Given the description of an element on the screen output the (x, y) to click on. 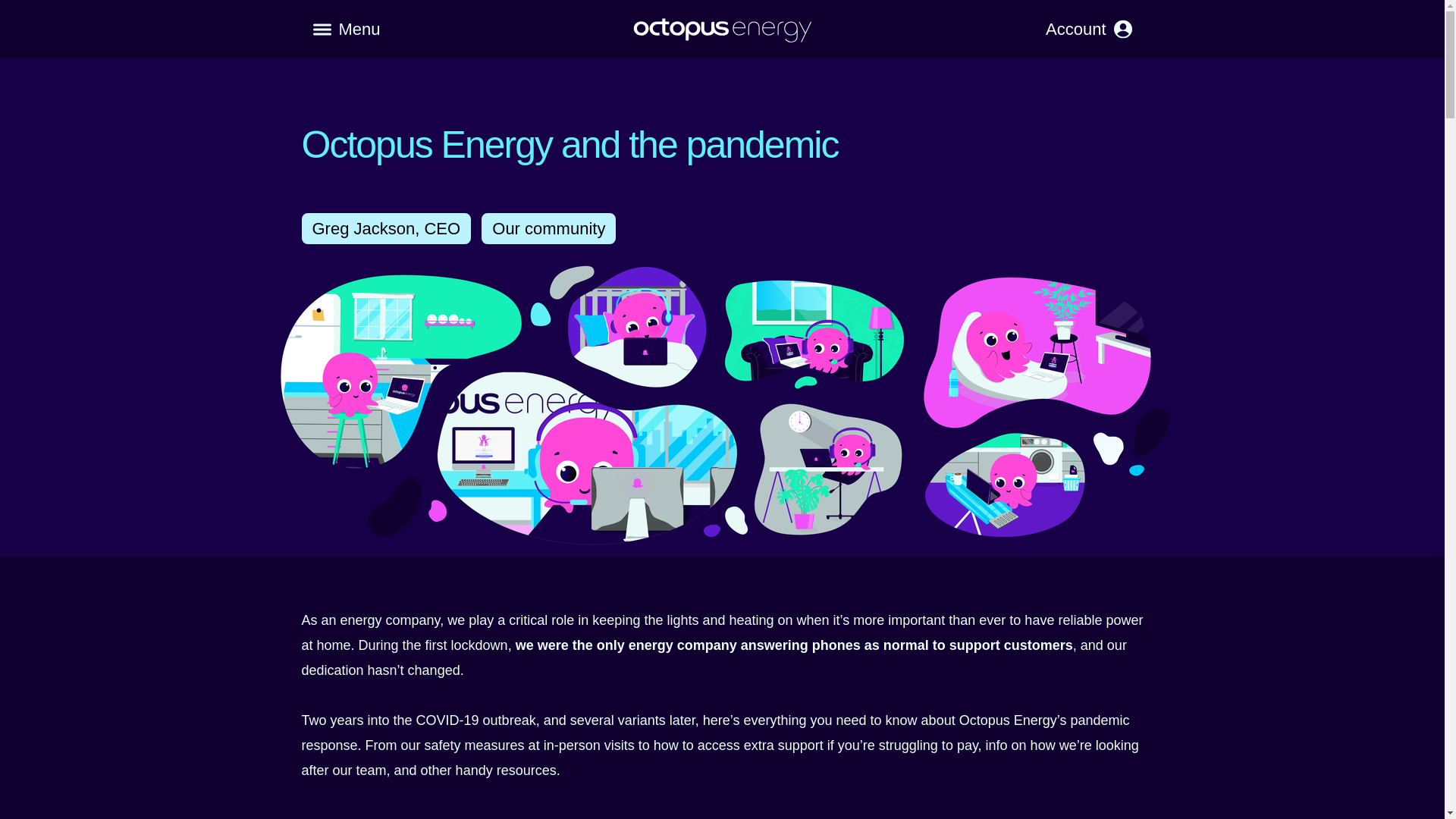
Account (1087, 28)
Menu (346, 28)
